Given the description of an element on the screen output the (x, y) to click on. 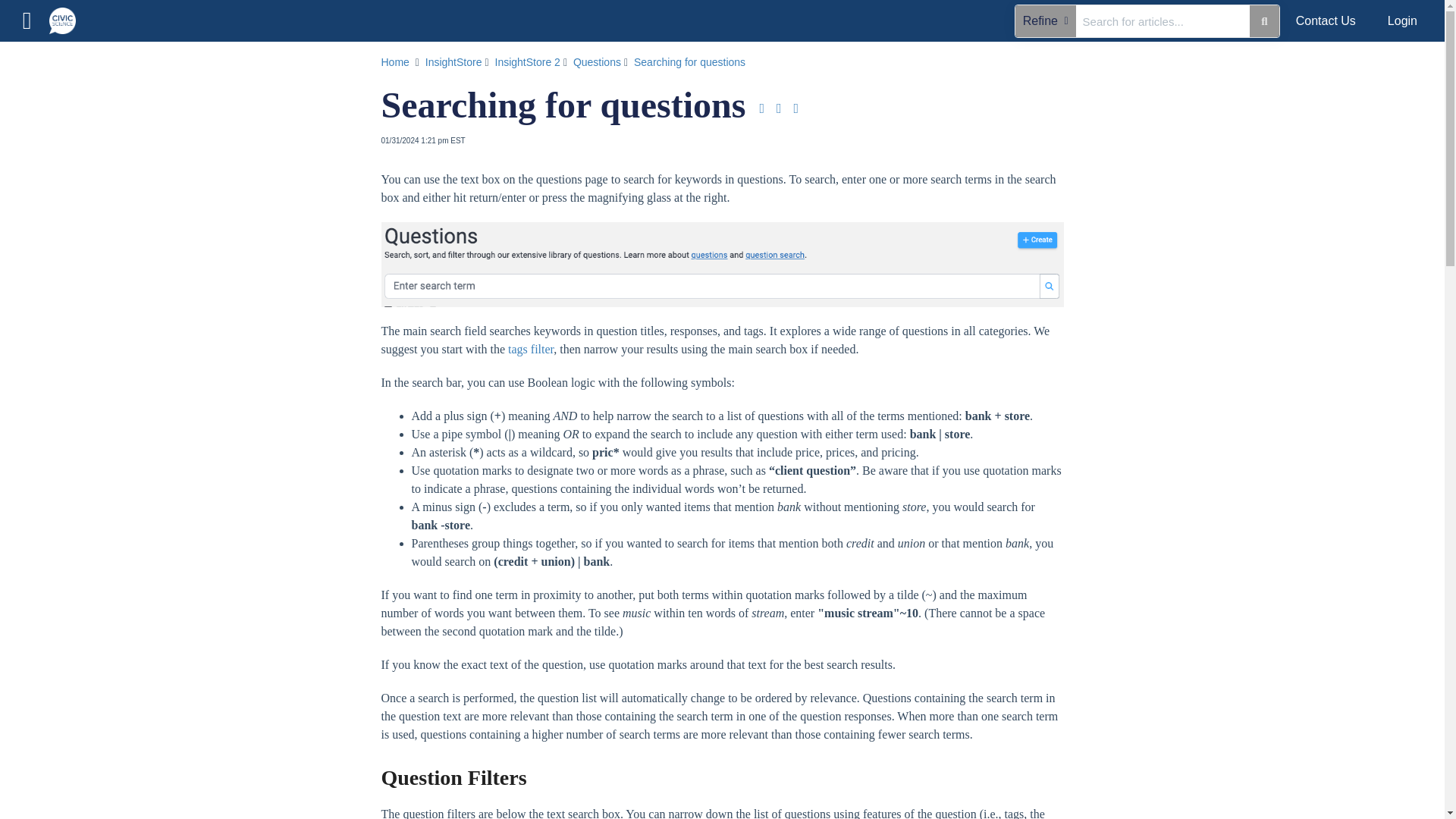
Refine (35, 61)
Home (127, 103)
Refine search (1044, 20)
Refine search (35, 61)
Search (1263, 20)
InsightStore (454, 62)
Refine (1044, 20)
Download PDF (761, 108)
Search (1163, 20)
Searching for questions (690, 62)
